Given the description of an element on the screen output the (x, y) to click on. 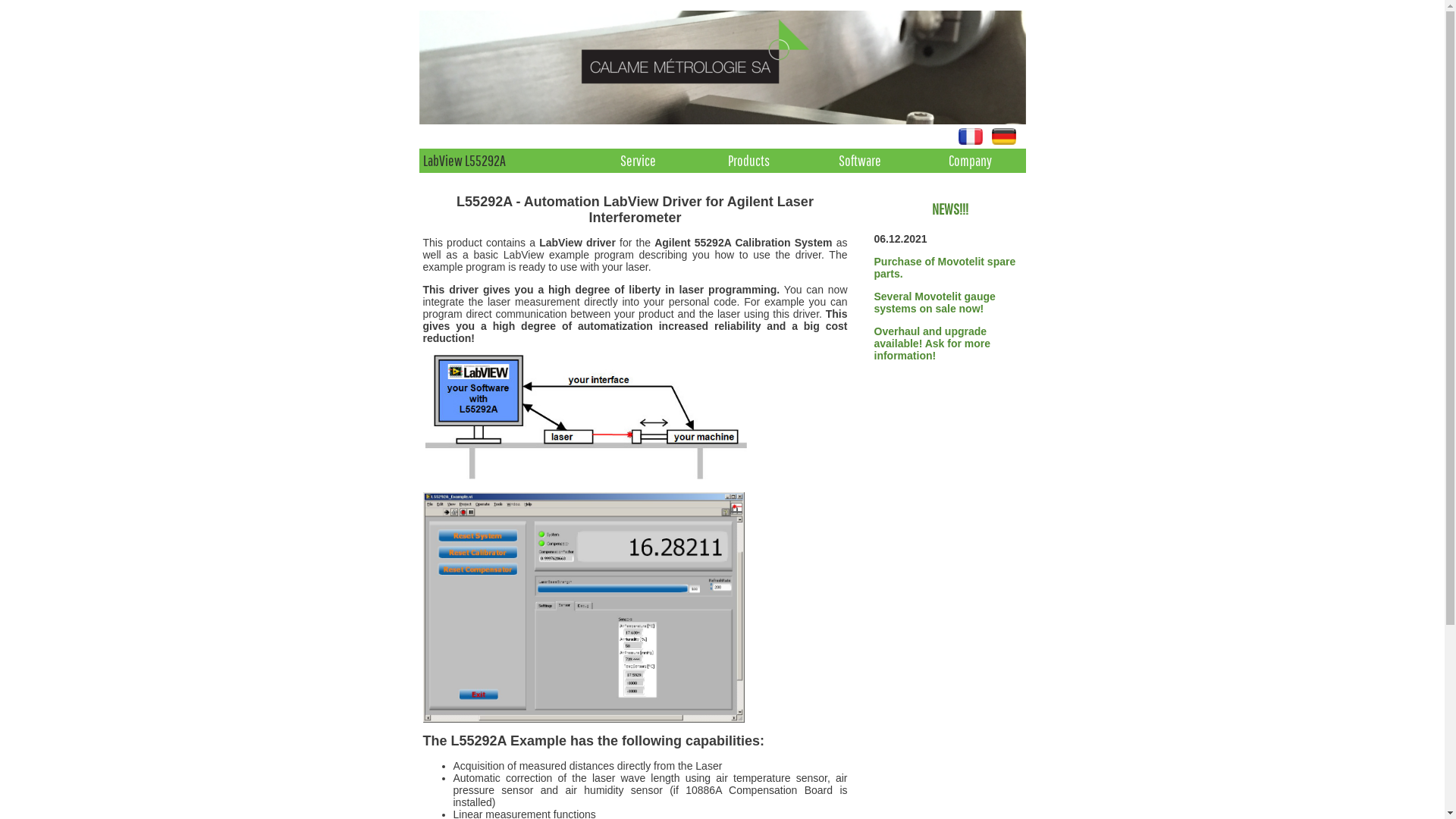
Software Element type: text (858, 160)
Overhaul and upgrade available! Ask for more information! Element type: text (931, 343)
Service Element type: text (637, 160)
Company Element type: text (969, 160)
L55292A-Example Element type: hover (583, 607)
Purchase of Movotelit spare parts. Element type: text (944, 267)
L55292A-CommunicationDiagram Element type: hover (585, 416)
Products Element type: text (748, 160)
Several Movotelit gauge systems on sale now! Element type: text (933, 302)
